Given the description of an element on the screen output the (x, y) to click on. 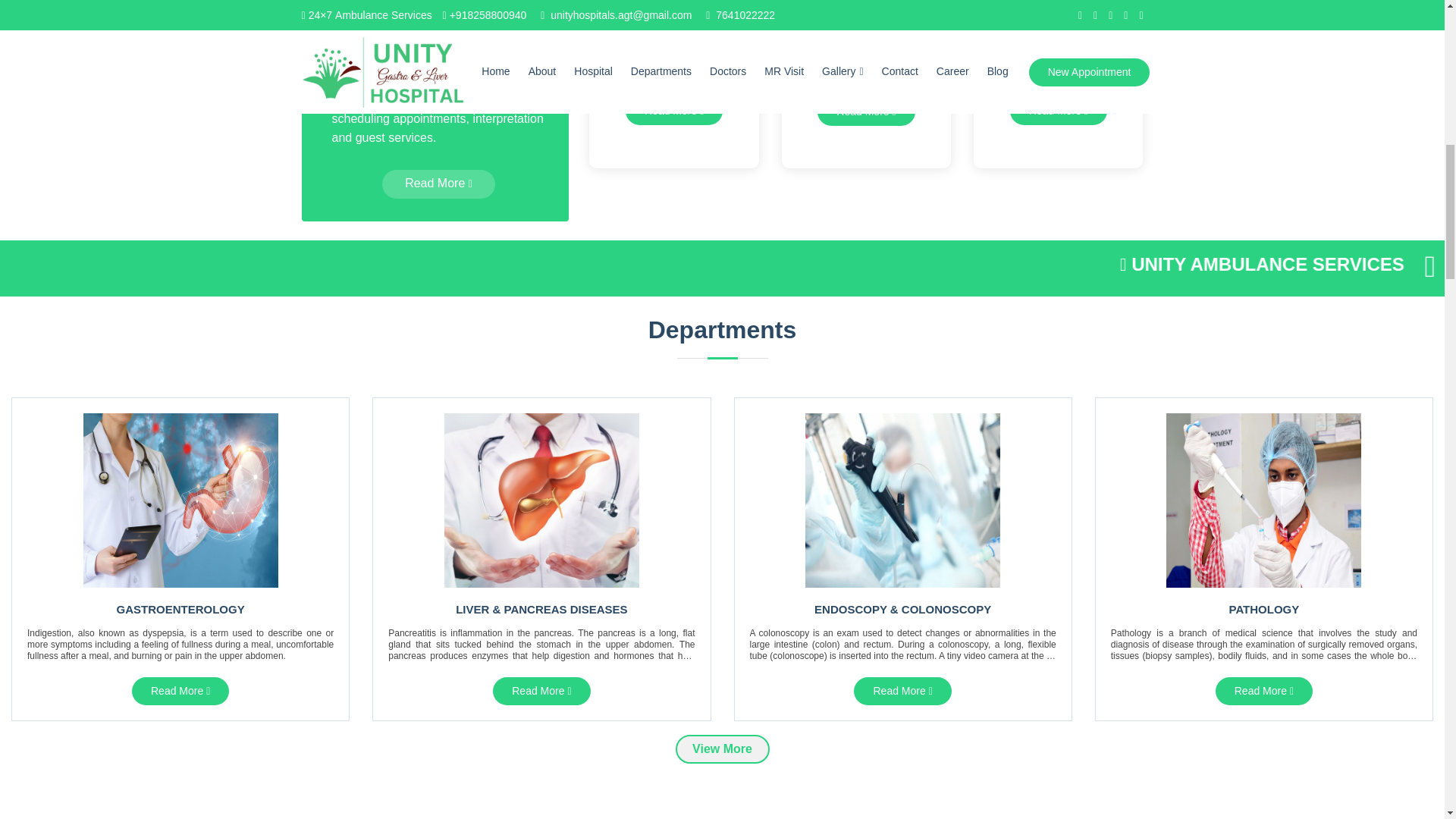
GASTROENTEROLOGY (180, 608)
Read More (674, 111)
Read More (865, 111)
Read More (180, 691)
Read More (1058, 111)
Read More (541, 691)
Read More (438, 184)
